Given the description of an element on the screen output the (x, y) to click on. 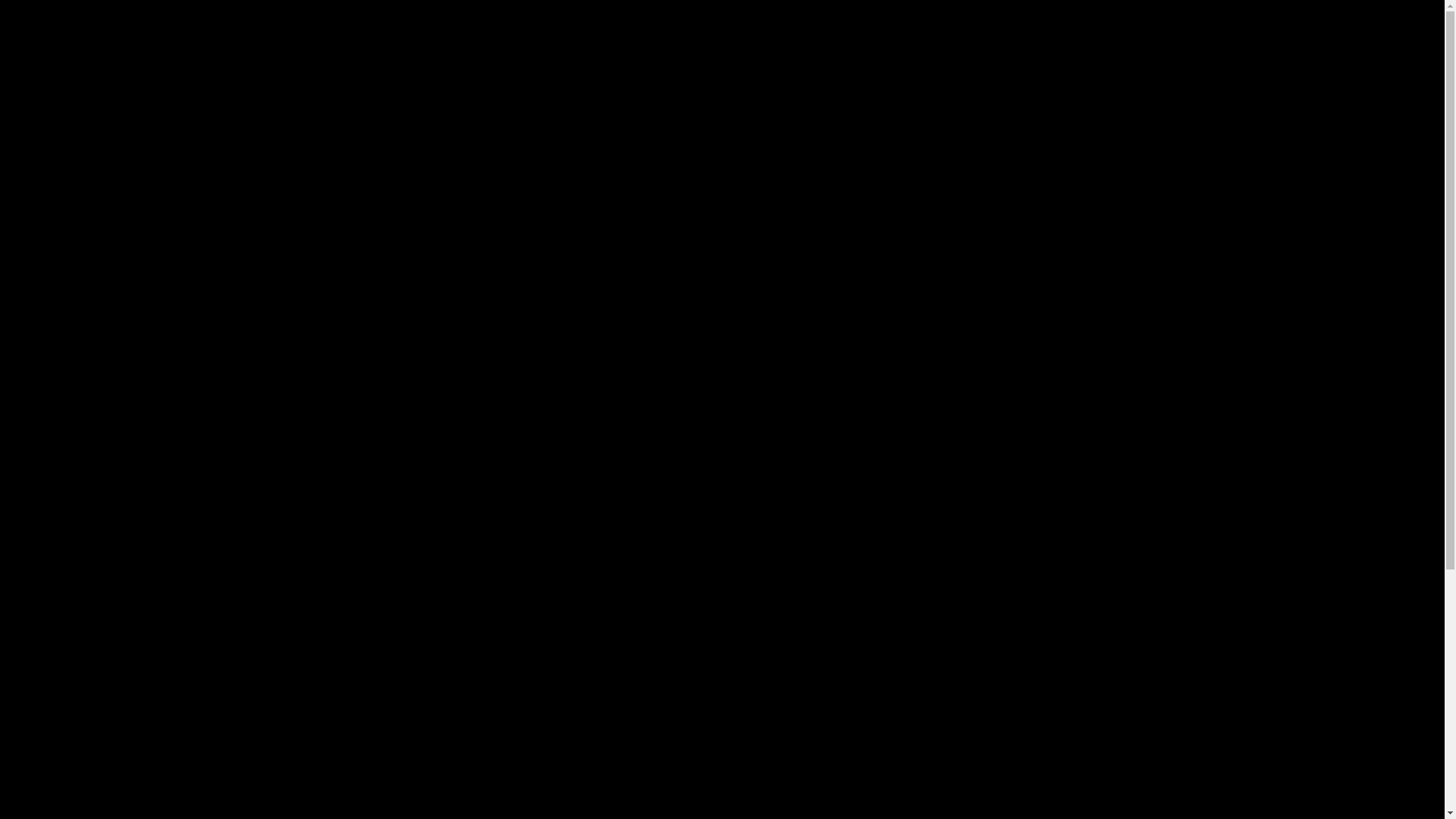
KONTAKT Element type: text (1336, 22)
FACHGEBIETE Element type: text (1106, 22)
PROJEKTE Element type: text (1229, 22)
HOME Element type: text (998, 22)
